Given the description of an element on the screen output the (x, y) to click on. 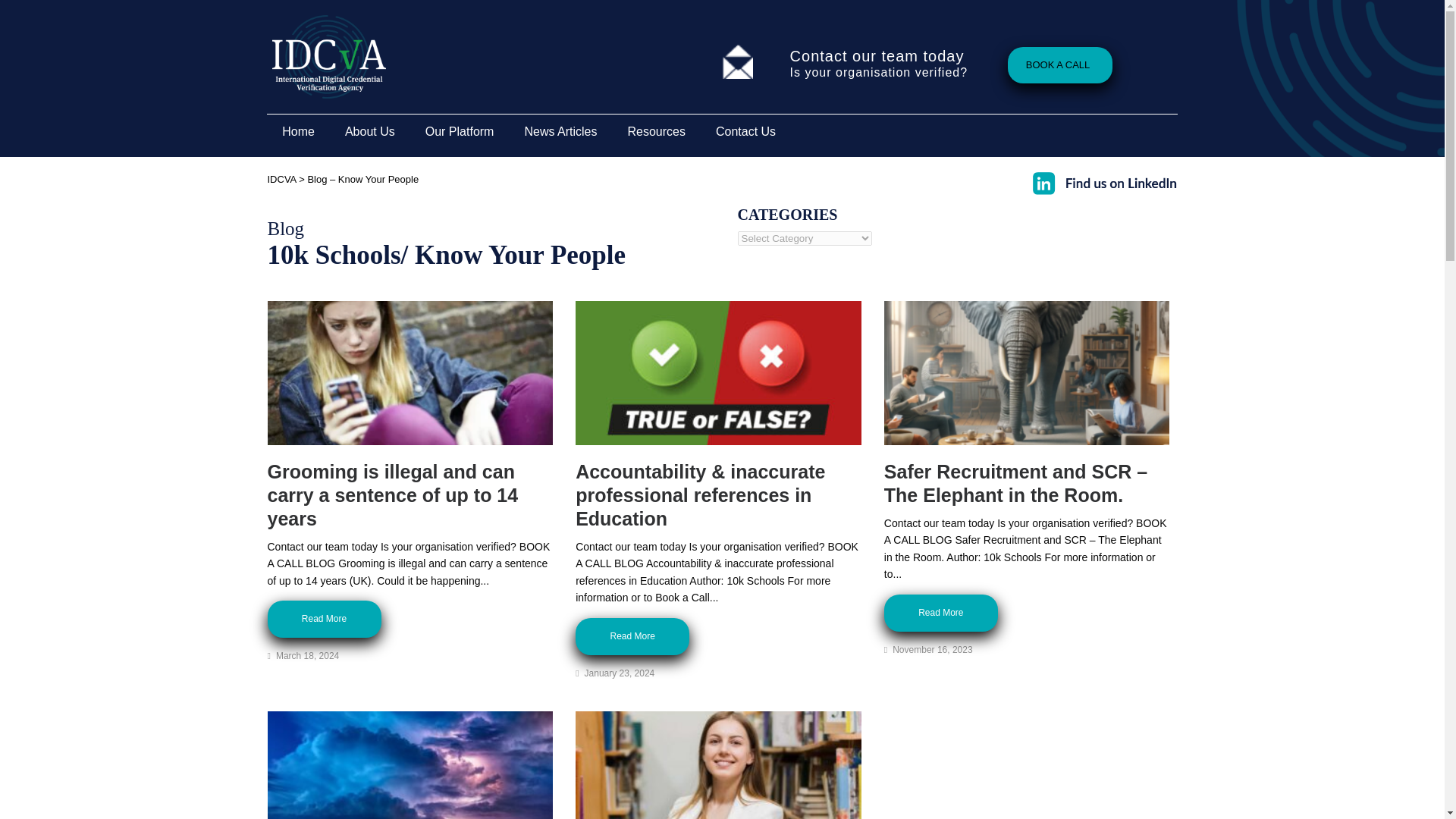
Read More (631, 636)
Home (298, 131)
News Articles (559, 131)
Read More (323, 619)
About Us (370, 131)
Contact Us (745, 131)
IDCVA (280, 179)
BOOK A CALL (1059, 65)
find-us-on-linkedin (1104, 182)
Resources (655, 131)
Our Platform (459, 131)
Go to IDCVA. (280, 179)
Read More (940, 612)
